Given the description of an element on the screen output the (x, y) to click on. 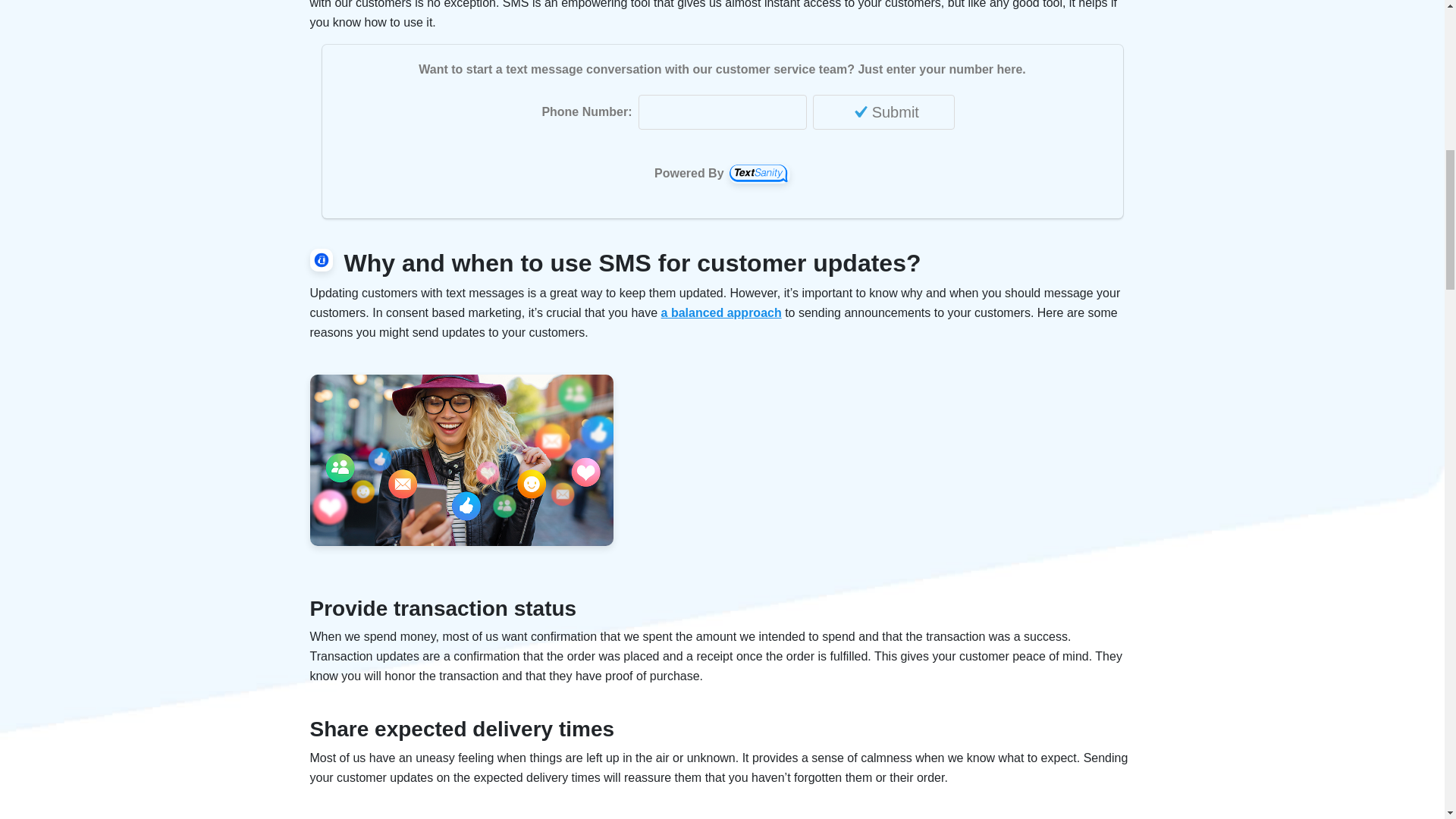
Submit (883, 112)
a balanced approach (721, 312)
